Given the description of an element on the screen output the (x, y) to click on. 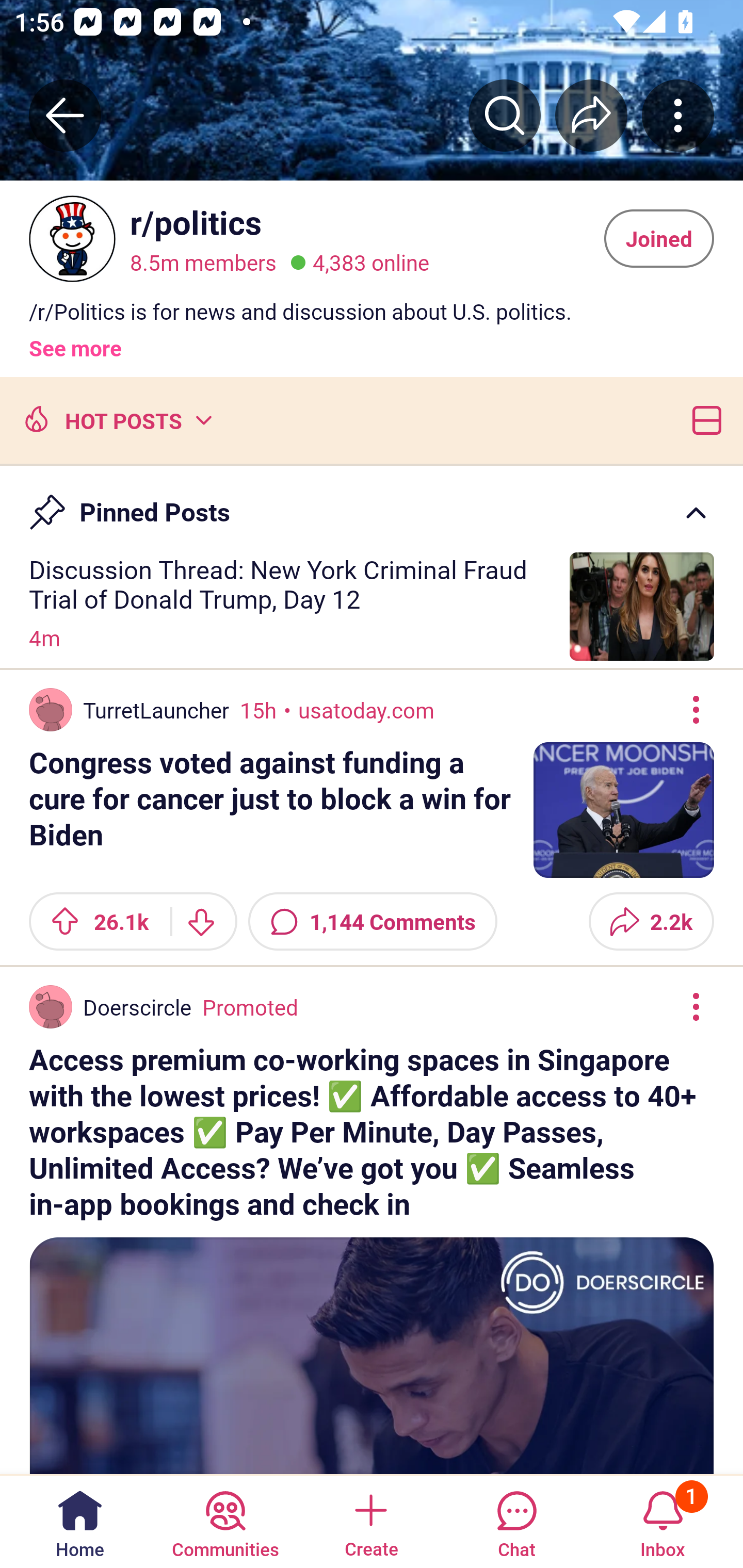
Back (64, 115)
Search r/﻿politics (504, 115)
Share r/﻿politics (591, 115)
More community actions (677, 115)
See more (74, 340)
Hot posts HOT POSTS (116, 419)
Card (703, 419)
Pin Pinned Posts Caret (371, 503)
Home (80, 1520)
Communities (225, 1520)
Create a post Create (370, 1520)
Chat (516, 1520)
Inbox, has 1 notification 1 Inbox (662, 1520)
